Given the description of an element on the screen output the (x, y) to click on. 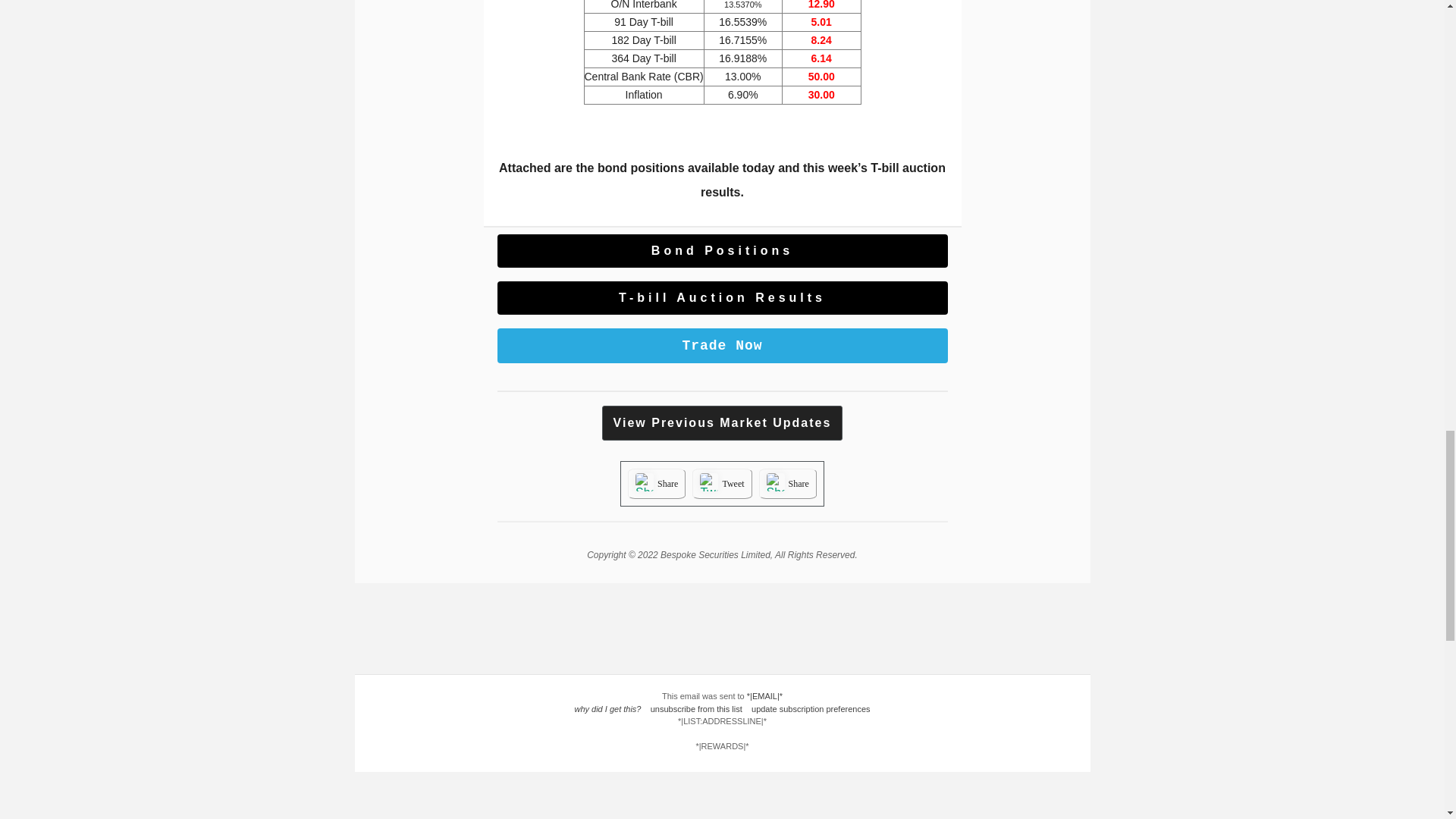
T-bill Auction Results (722, 297)
update subscription preferences (810, 708)
Trade Now (722, 345)
View Previous Market Updates  (721, 422)
Share (668, 483)
Bond Positions (722, 250)
Bond Positions (722, 250)
unsubscribe from this list (696, 708)
Tweet (733, 483)
T-bill Auction Results (722, 297)
